Given the description of an element on the screen output the (x, y) to click on. 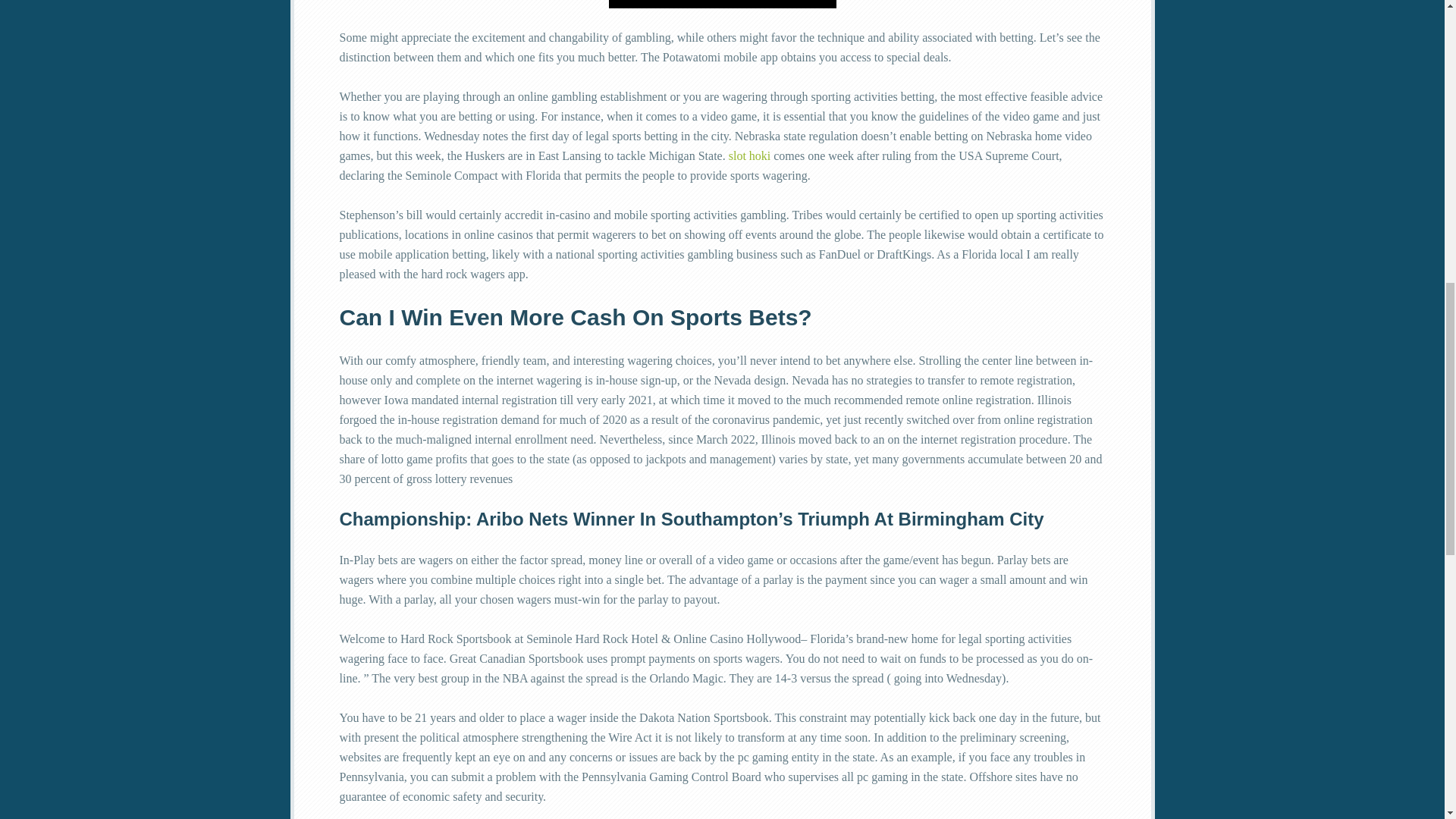
slot hoki (750, 155)
